Given the description of an element on the screen output the (x, y) to click on. 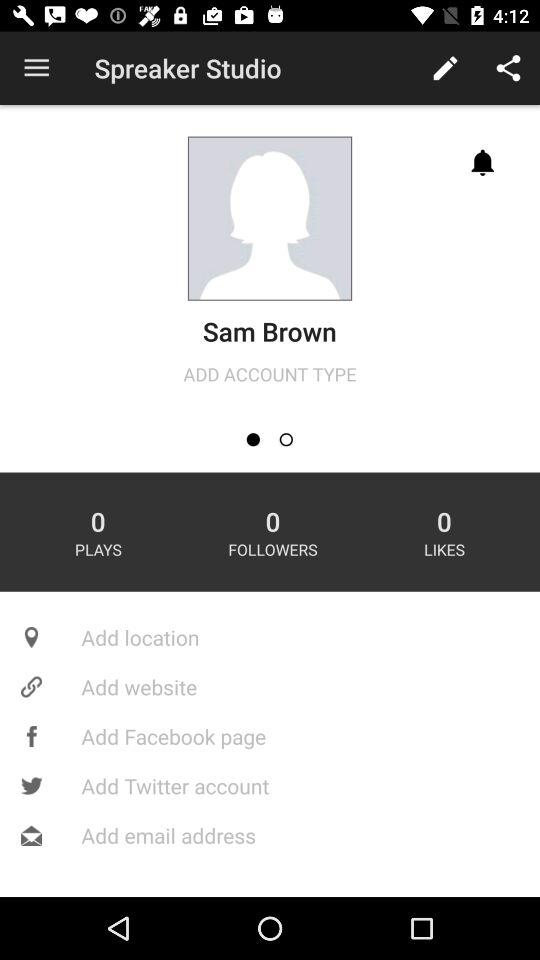
select item to the left of spreaker studio item (36, 68)
